Given the description of an element on the screen output the (x, y) to click on. 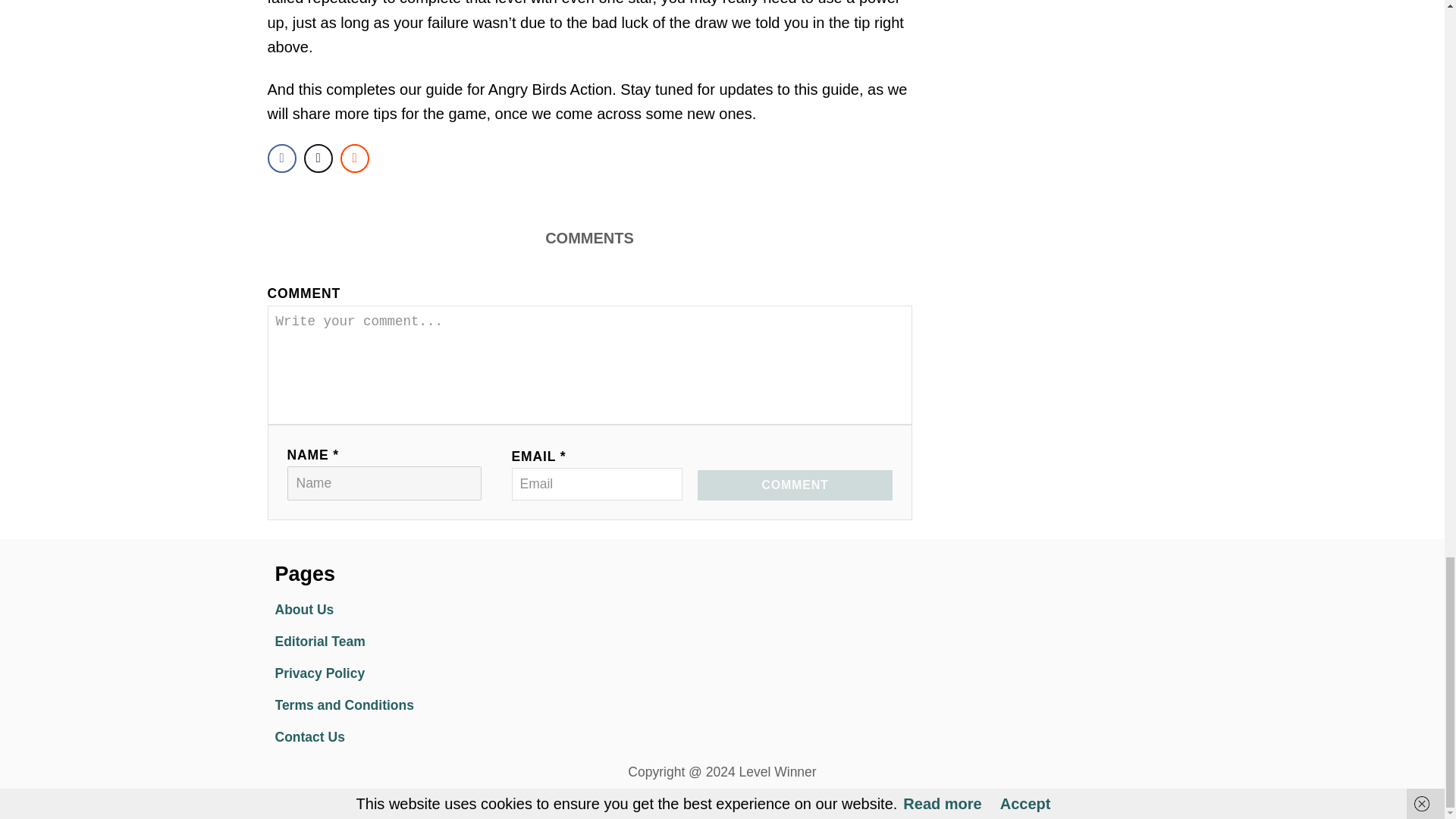
Terms and Conditions (406, 705)
About Us (406, 610)
COMMENT (794, 485)
Editorial Team (406, 642)
Contact Us (406, 737)
Privacy Policy (406, 674)
